Given the description of an element on the screen output the (x, y) to click on. 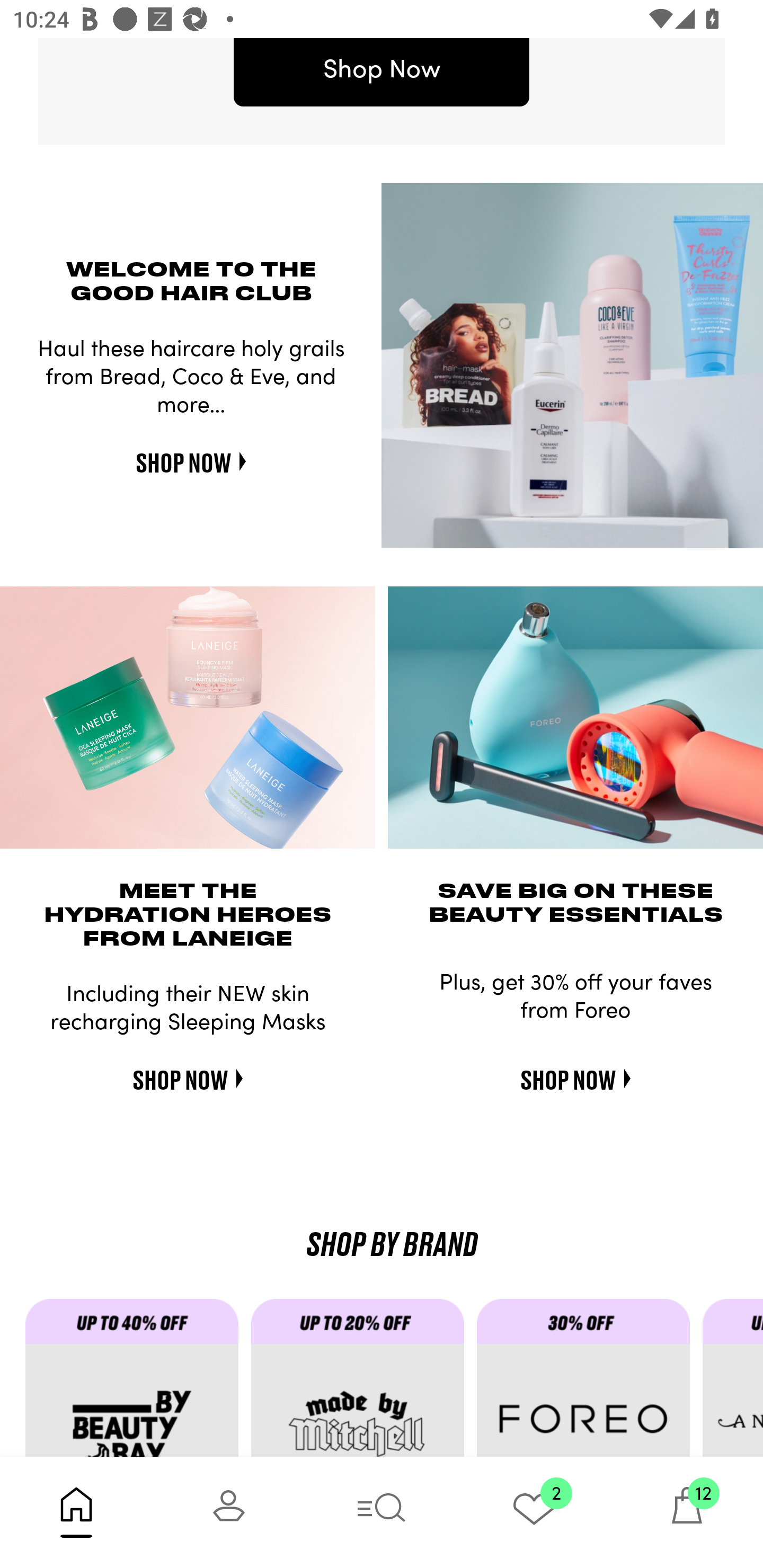
2 (533, 1512)
12 (686, 1512)
